Given the description of an element on the screen output the (x, y) to click on. 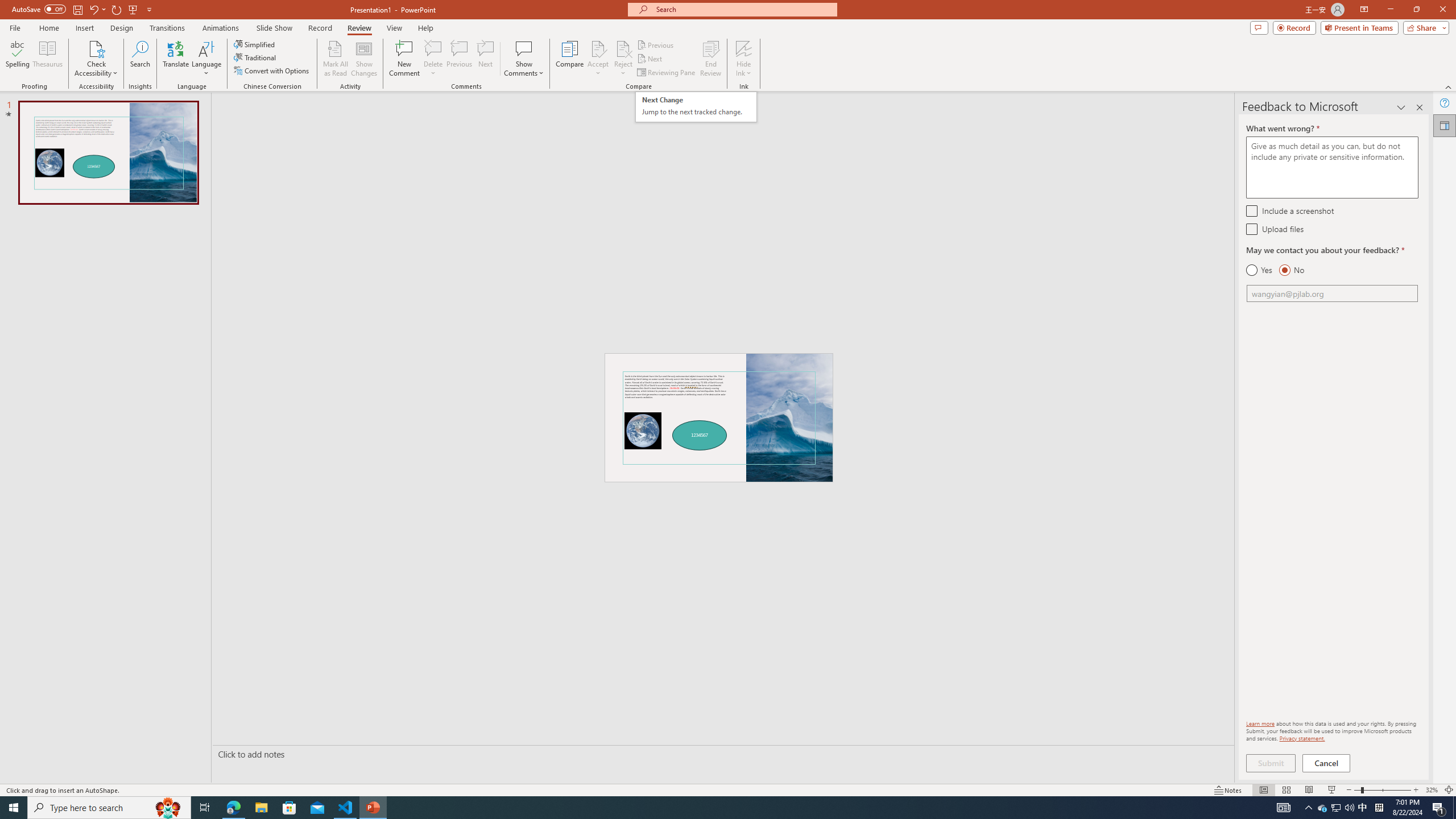
Previous (655, 44)
Accept Change (598, 48)
No (1291, 269)
Learn more (1260, 723)
Show Comments (524, 48)
Traditional (255, 56)
